Given the description of an element on the screen output the (x, y) to click on. 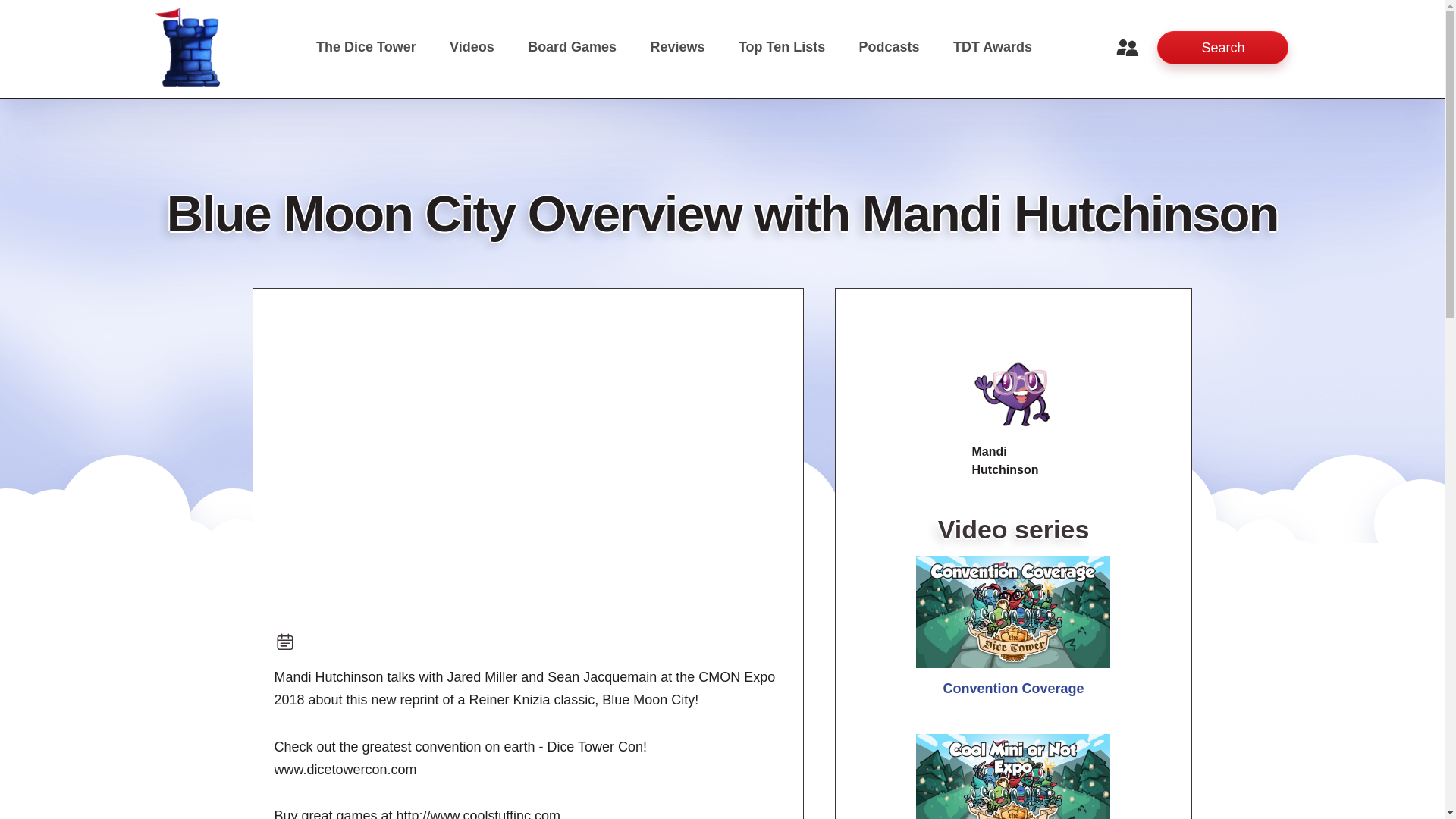
Podcasts (889, 47)
Board Games (571, 47)
Mandi Hutchinson (1013, 395)
The Dice Tower (365, 47)
TDT Awards (991, 47)
Reviews (677, 47)
Videos (471, 47)
Top Ten Lists (781, 47)
